Given the description of an element on the screen output the (x, y) to click on. 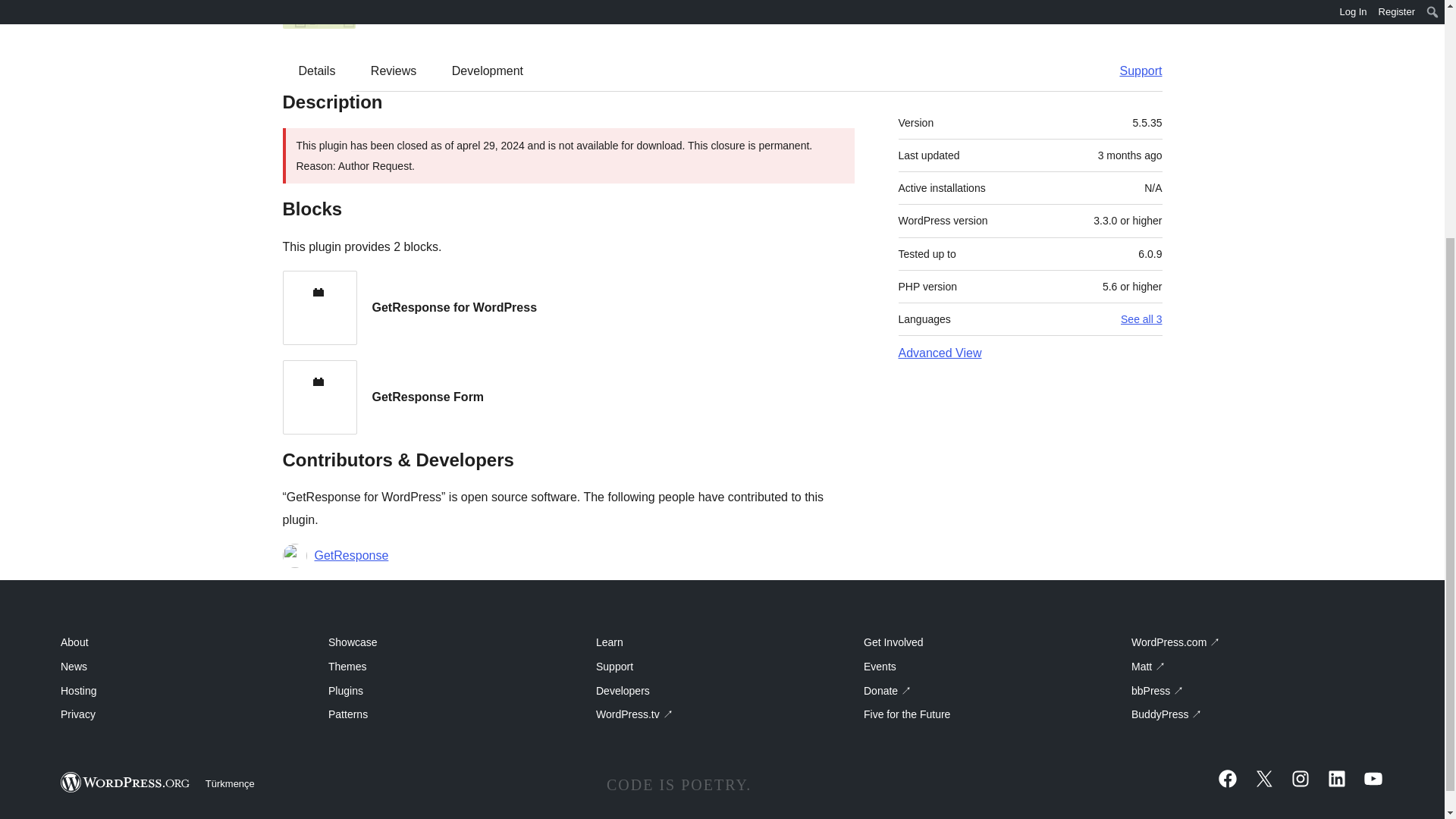
Support (1132, 71)
Development (487, 71)
Reviews (392, 71)
WordPress.org (125, 782)
Details (316, 71)
